Given the description of an element on the screen output the (x, y) to click on. 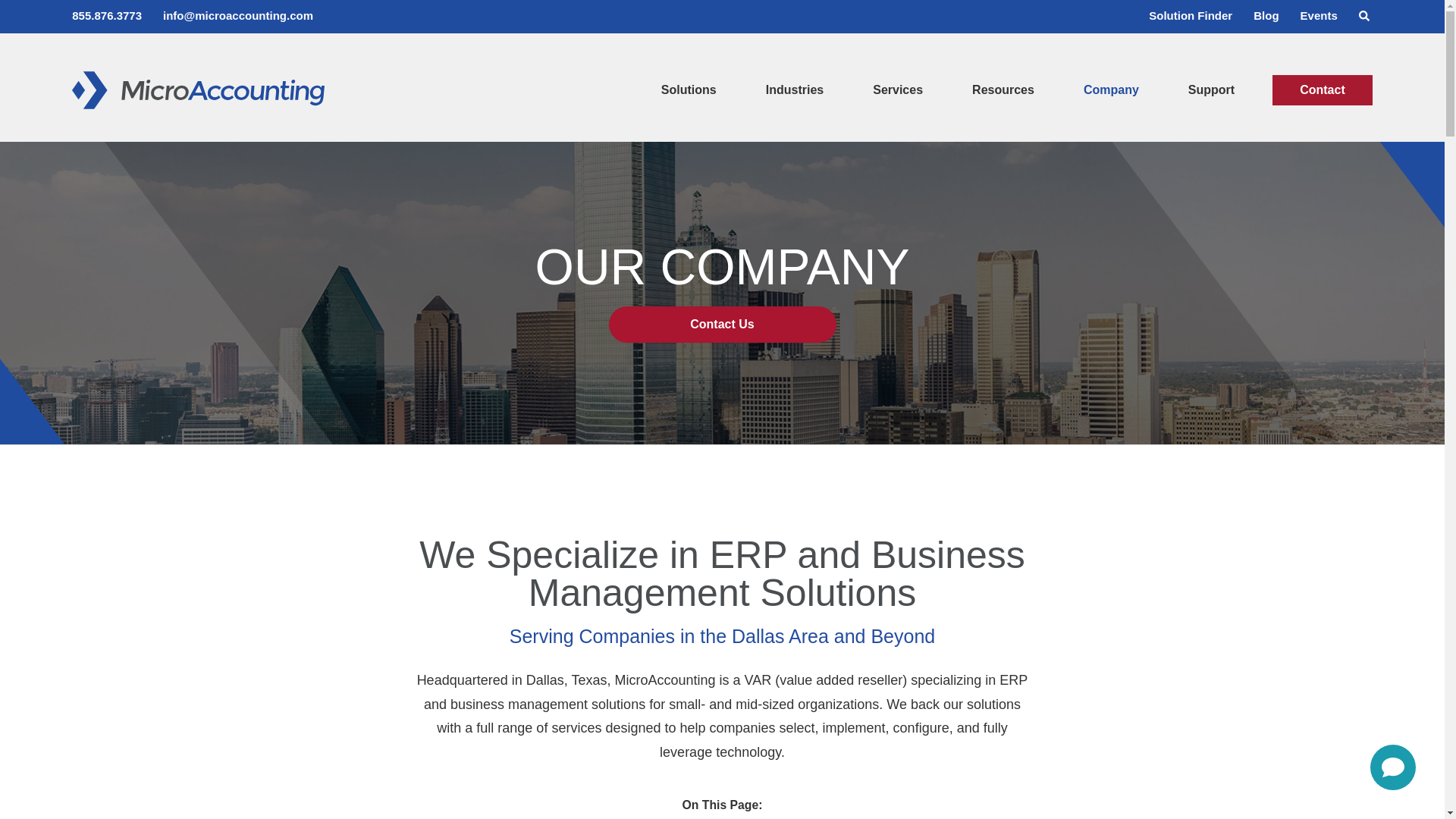
Blog (1265, 15)
Industries (794, 108)
Solution Finder (1189, 15)
Resources (1002, 108)
855.876.3773 (106, 15)
Services (897, 108)
Solutions (688, 108)
Events (1319, 15)
